Given the description of an element on the screen output the (x, y) to click on. 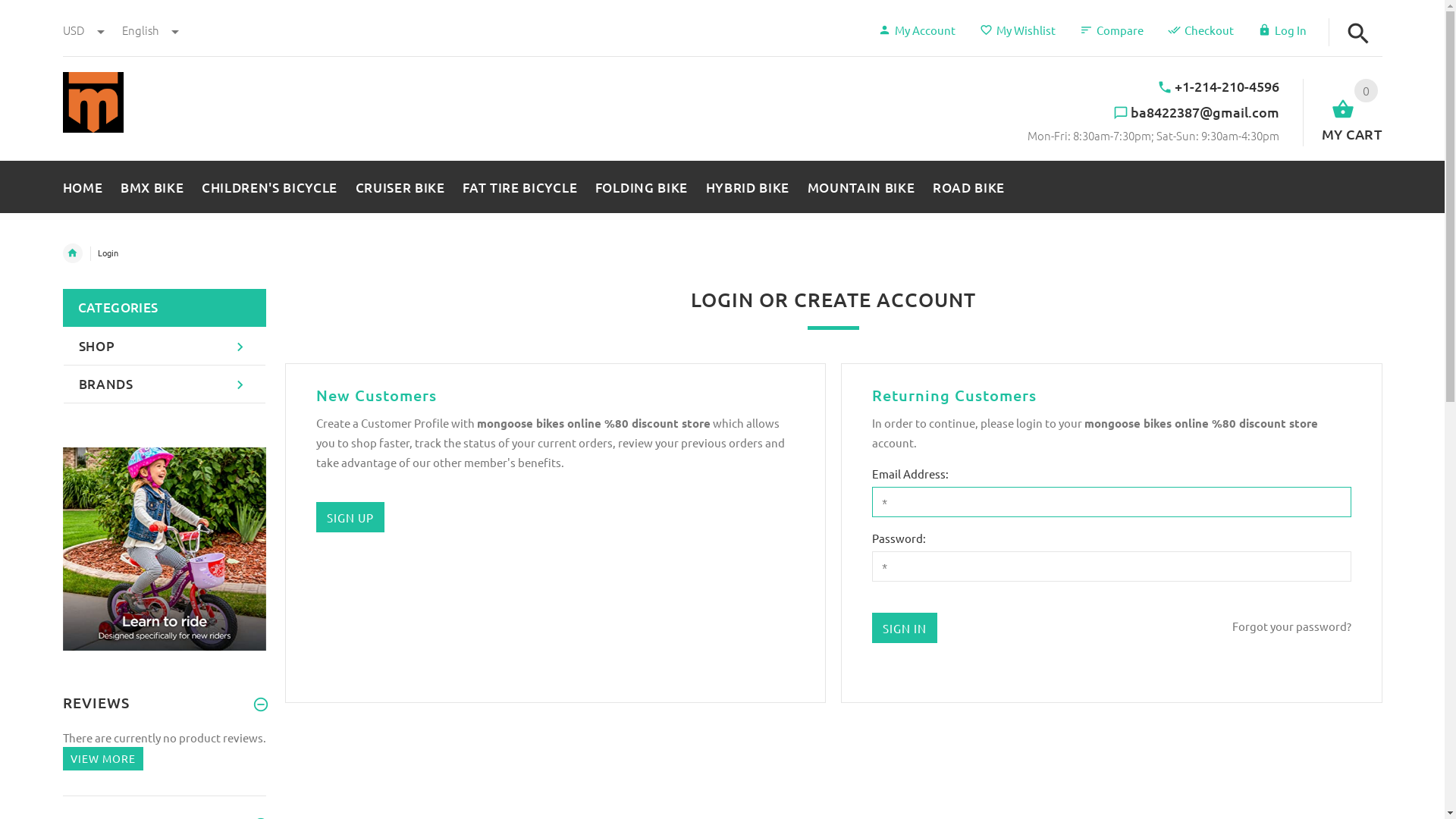
VIEW MORE Element type: text (102, 758)
My Account Element type: text (916, 29)
HYBRID BIKE Element type: text (747, 183)
MOUNTAIN BIKE Element type: text (860, 183)
FAT TIRE BICYCLE Element type: text (520, 183)
CRUISER BIKE Element type: text (400, 183)
My Wishlist Element type: text (1017, 29)
USD Element type: text (84, 29)
Checkout Element type: text (1200, 29)
Sign In Element type: text (904, 627)
HOME Element type: text (86, 183)
SHOP Element type: text (164, 346)
Log In Element type: text (1281, 29)
0
MY CART Element type: text (1342, 111)
Forgot your password? Element type: text (1290, 625)
English Element type: text (149, 29)
Sign Up Element type: text (350, 517)
BRANDS Element type: text (164, 384)
ROAD BIKE Element type: text (963, 183)
Compare Element type: text (1111, 29)
FOLDING BIKE Element type: text (641, 183)
BMX BIKE Element type: text (151, 183)
CHILDREN'S BICYCLE Element type: text (269, 183)
Home Element type: text (71, 253)
